Given the description of an element on the screen output the (x, y) to click on. 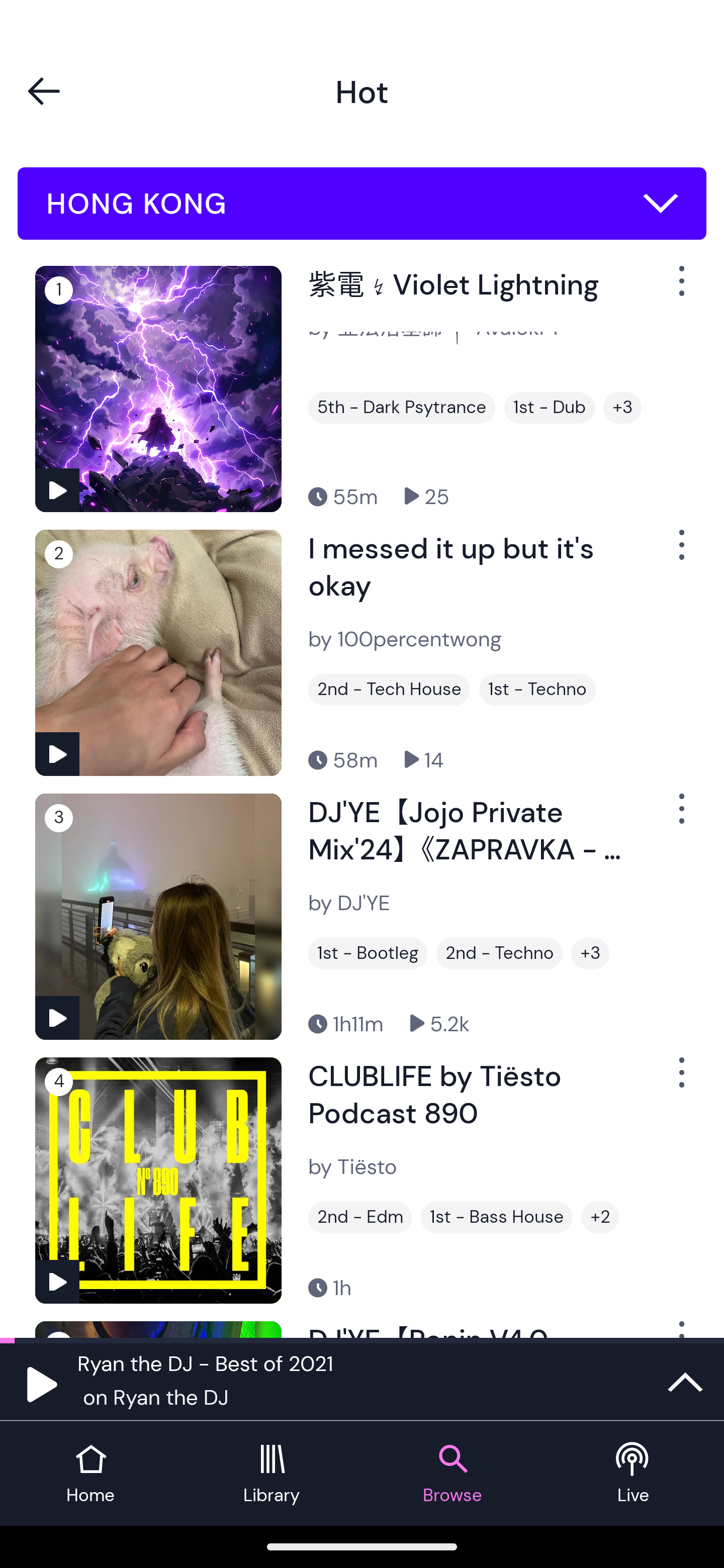
HONG KONG (361, 203)
Show Options Menu Button (679, 289)
5th - Dark Psytrance (401, 407)
1st - Dub (549, 407)
Show Options Menu Button (679, 552)
2nd - Tech House (388, 689)
1st - Techno (537, 689)
Show Options Menu Button (679, 815)
1st - Bootleg (367, 953)
2nd - Techno (499, 953)
Show Options Menu Button (679, 1079)
2nd - Edm (359, 1217)
1st - Bass House (496, 1217)
Home tab Home (90, 1473)
Library tab Library (271, 1473)
Browse tab Browse (452, 1473)
Live tab Live (633, 1473)
